Given the description of an element on the screen output the (x, y) to click on. 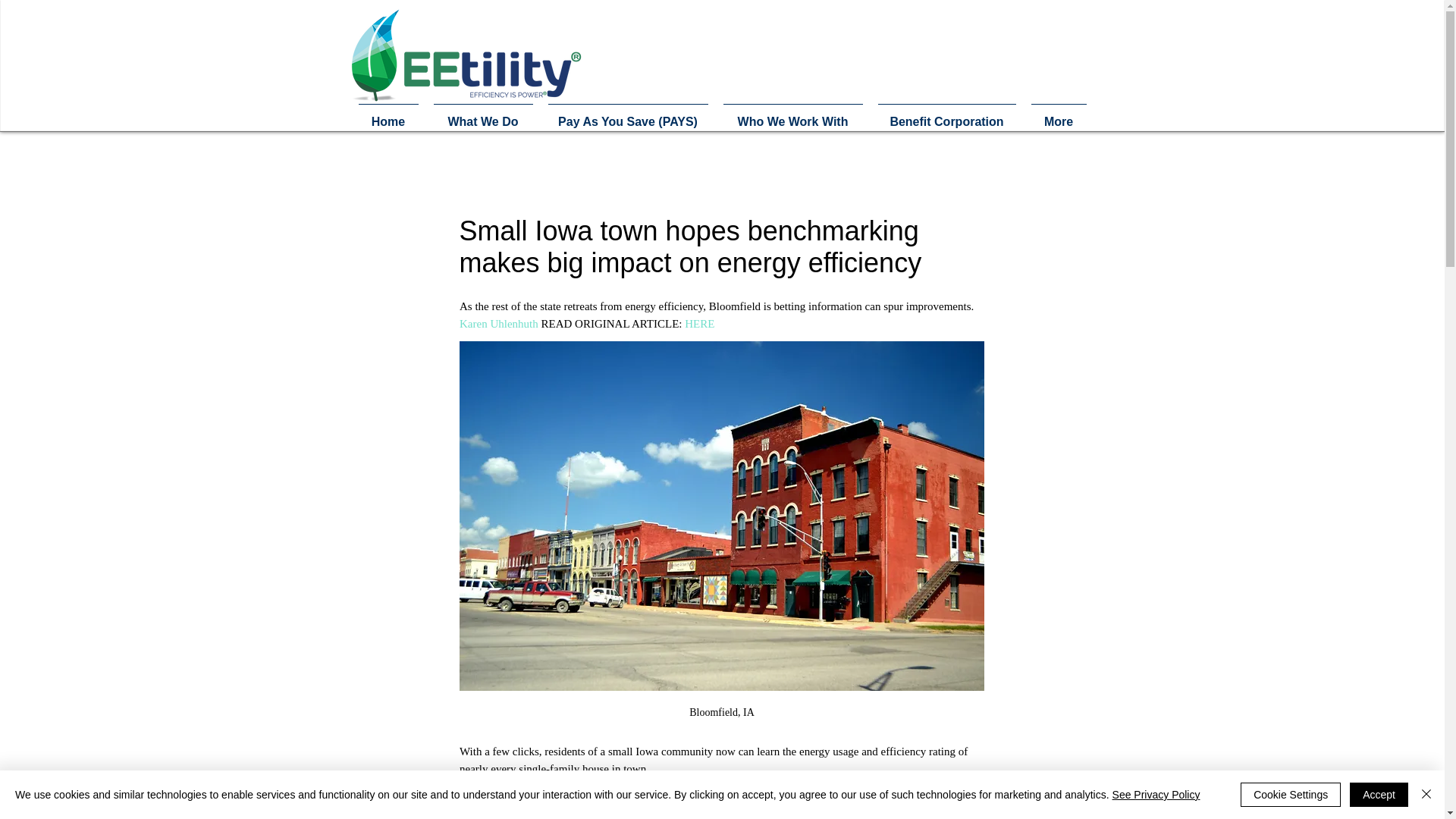
HERE (699, 322)
Who We Work With (793, 115)
Karen Uhlenhuth (499, 322)
Home (387, 115)
Cookie Settings (1290, 794)
retreat from energy efficiency (785, 802)
Accept (1378, 794)
Benefit Corporation (946, 115)
See Privacy Policy (1155, 794)
What We Do (483, 115)
